Given the description of an element on the screen output the (x, y) to click on. 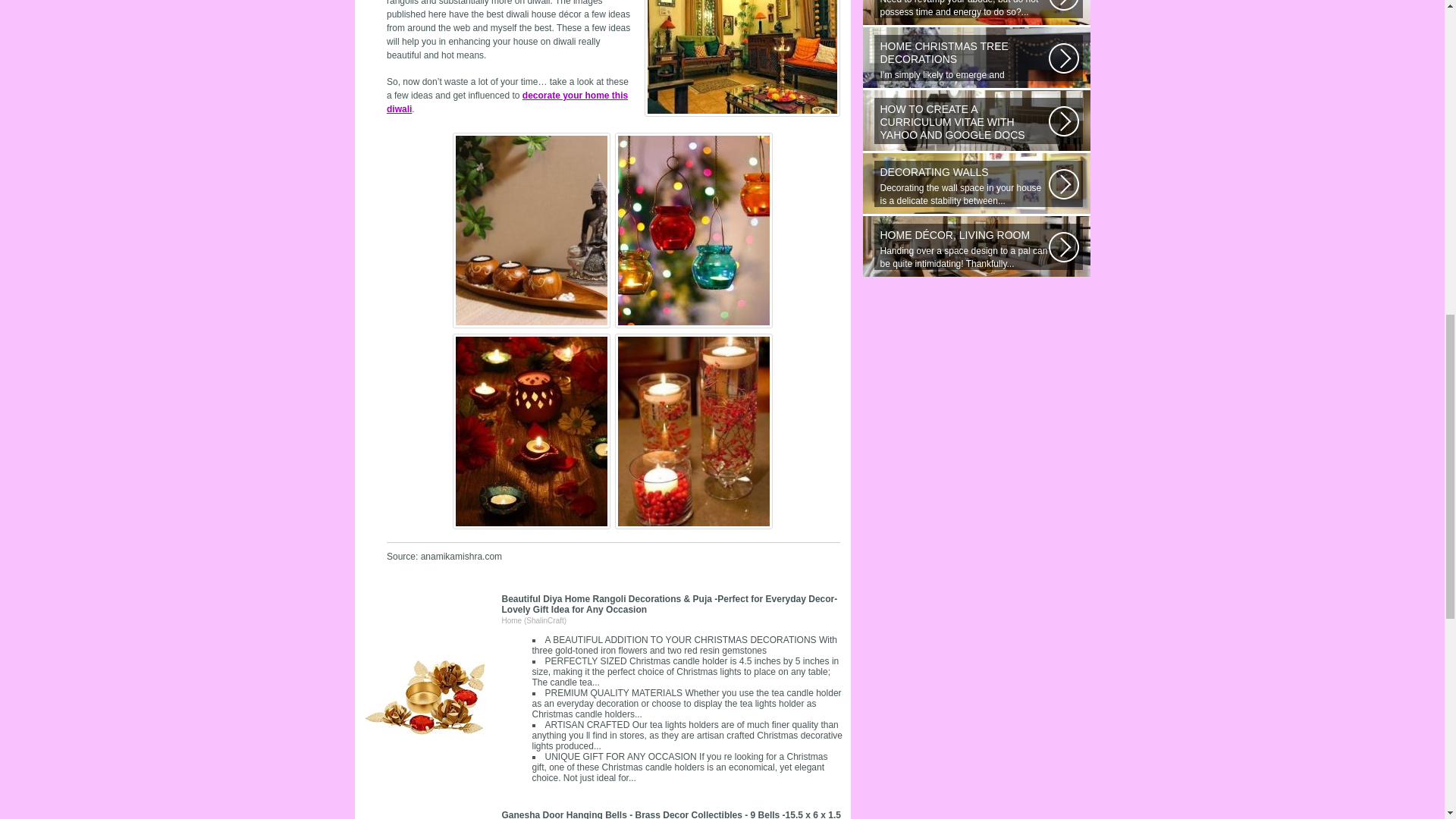
decorate your home this diwali (507, 102)
Diwali Decoration home Ideas (507, 102)
